Given the description of an element on the screen output the (x, y) to click on. 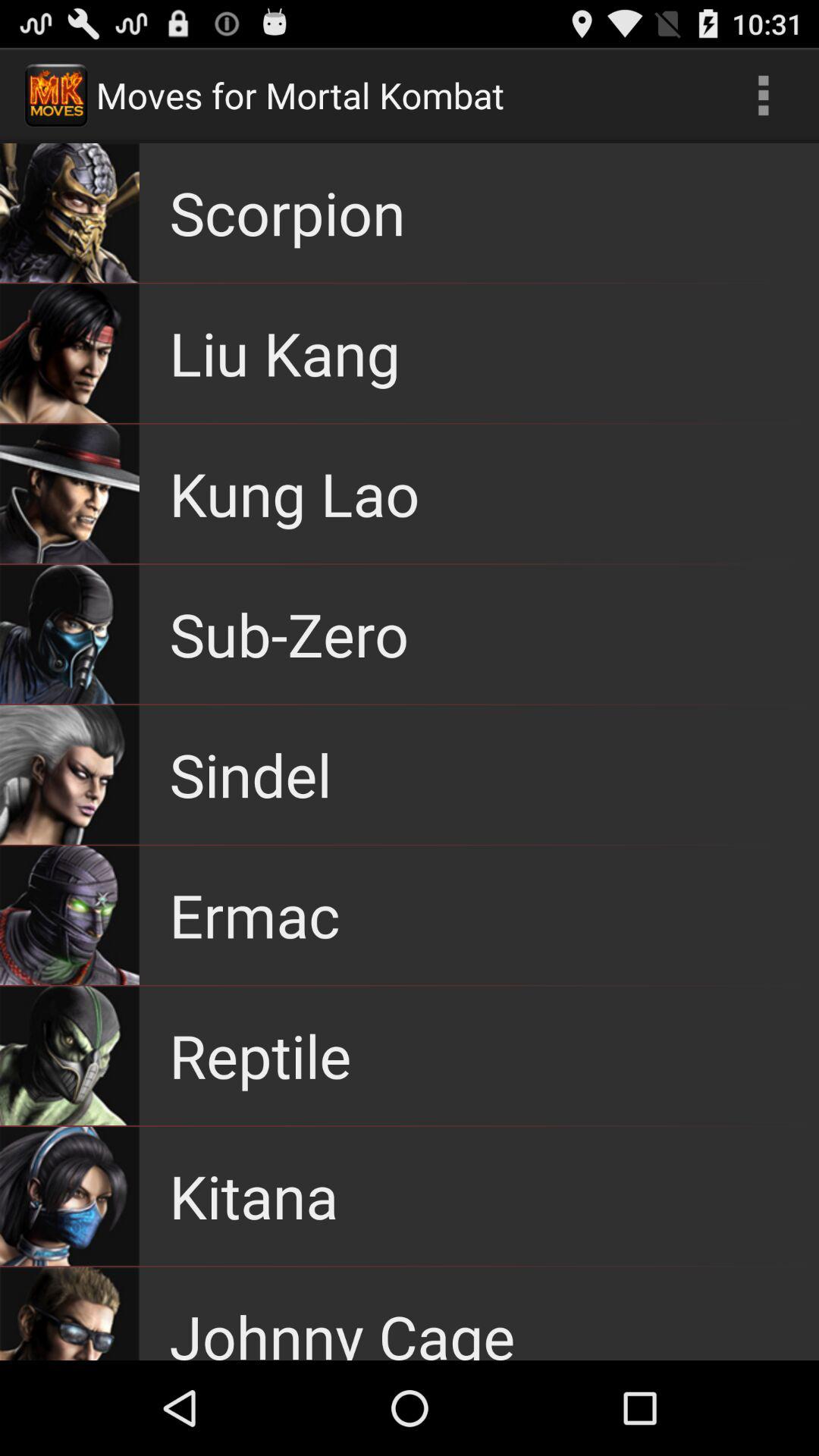
scroll until sub-zero item (288, 633)
